Given the description of an element on the screen output the (x, y) to click on. 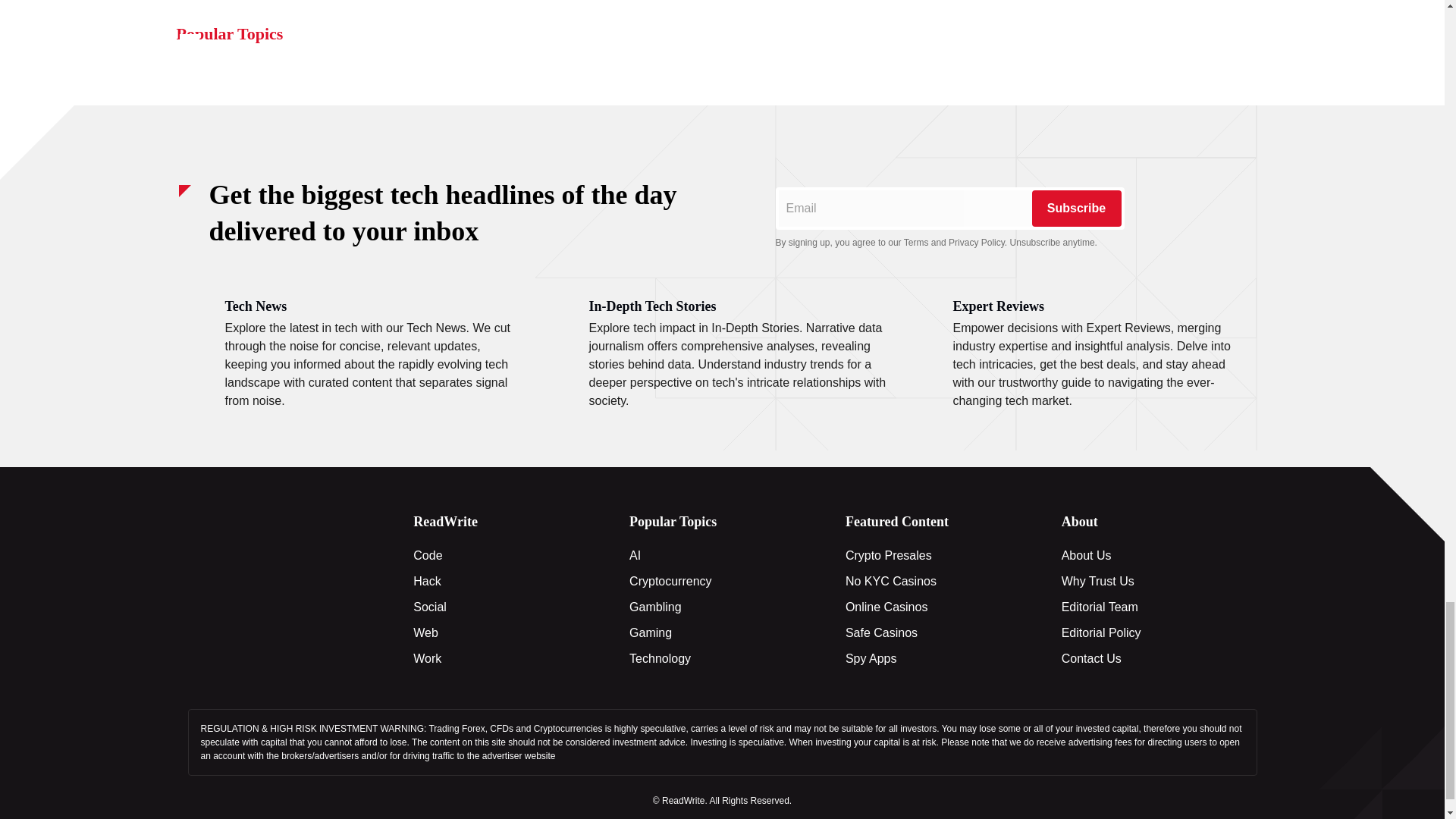
Subscribe (1075, 208)
